Given the description of an element on the screen output the (x, y) to click on. 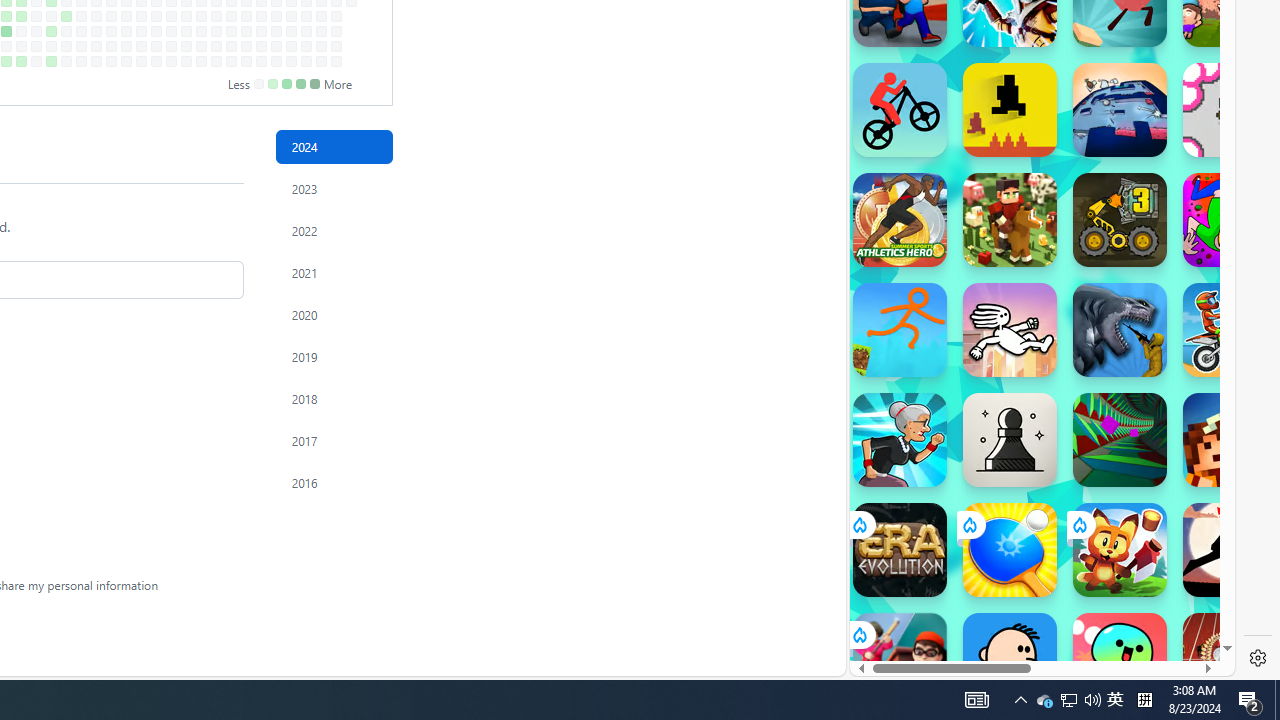
No contributions on July 26th. (6, 46)
2020 (333, 314)
No contributions on November 14th. (246, 30)
No contributions on November 2nd. (216, 61)
Lurkers.io Lurkers.io (1229, 439)
Combat Reloaded (1090, 290)
No contributions on October 30th. (216, 16)
No contributions on October 18th. (186, 46)
Contribution activity in 2019 (333, 356)
No contributions on November 21st. (261, 30)
2017 (333, 440)
No contributions on August 31st. (81, 61)
No contributions on August 8th. (36, 30)
No contributions on November 8th. (231, 46)
Click to scroll right (1196, 247)
